Given the description of an element on the screen output the (x, y) to click on. 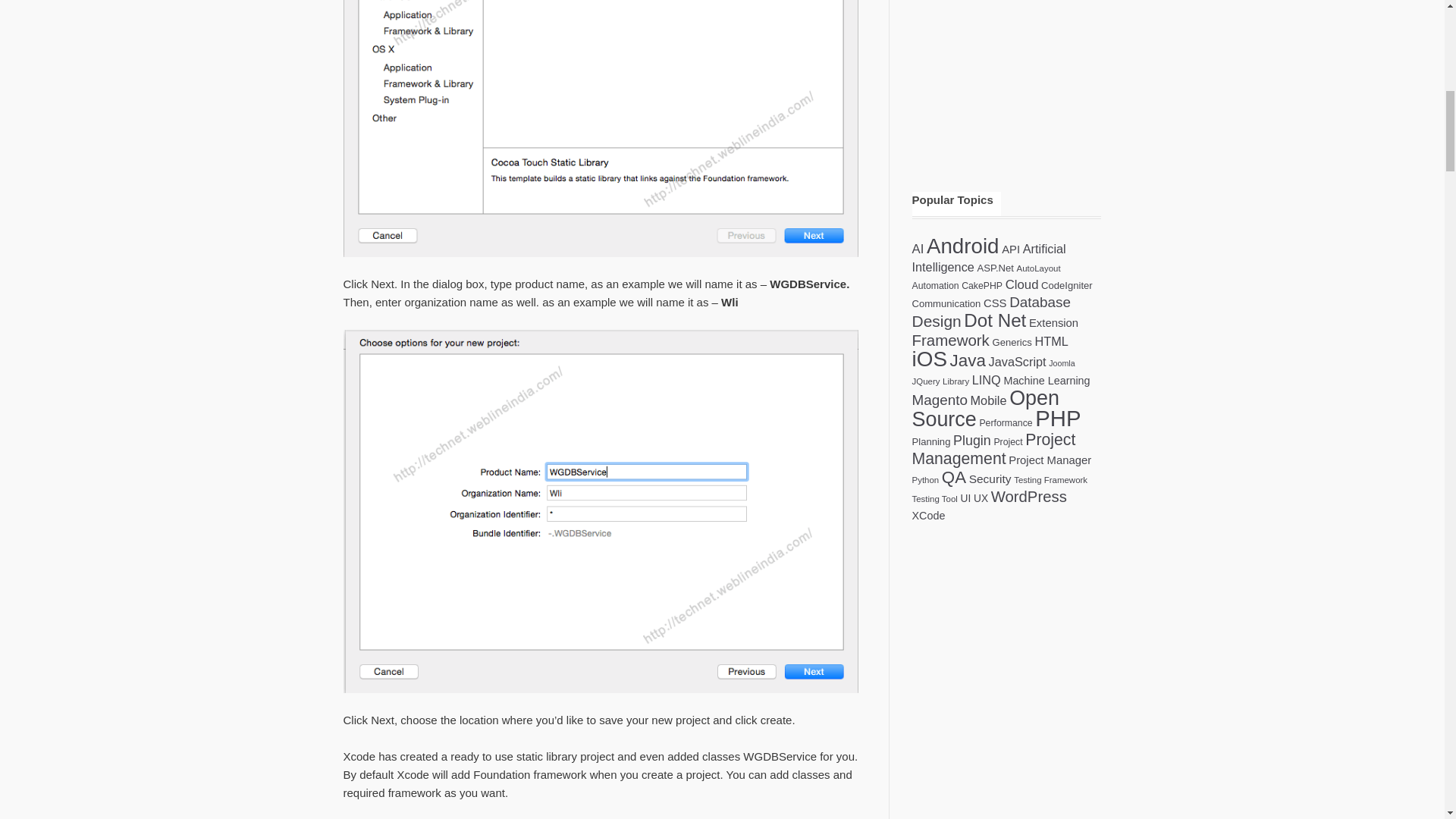
Advertisement (1005, 65)
